Given the description of an element on the screen output the (x, y) to click on. 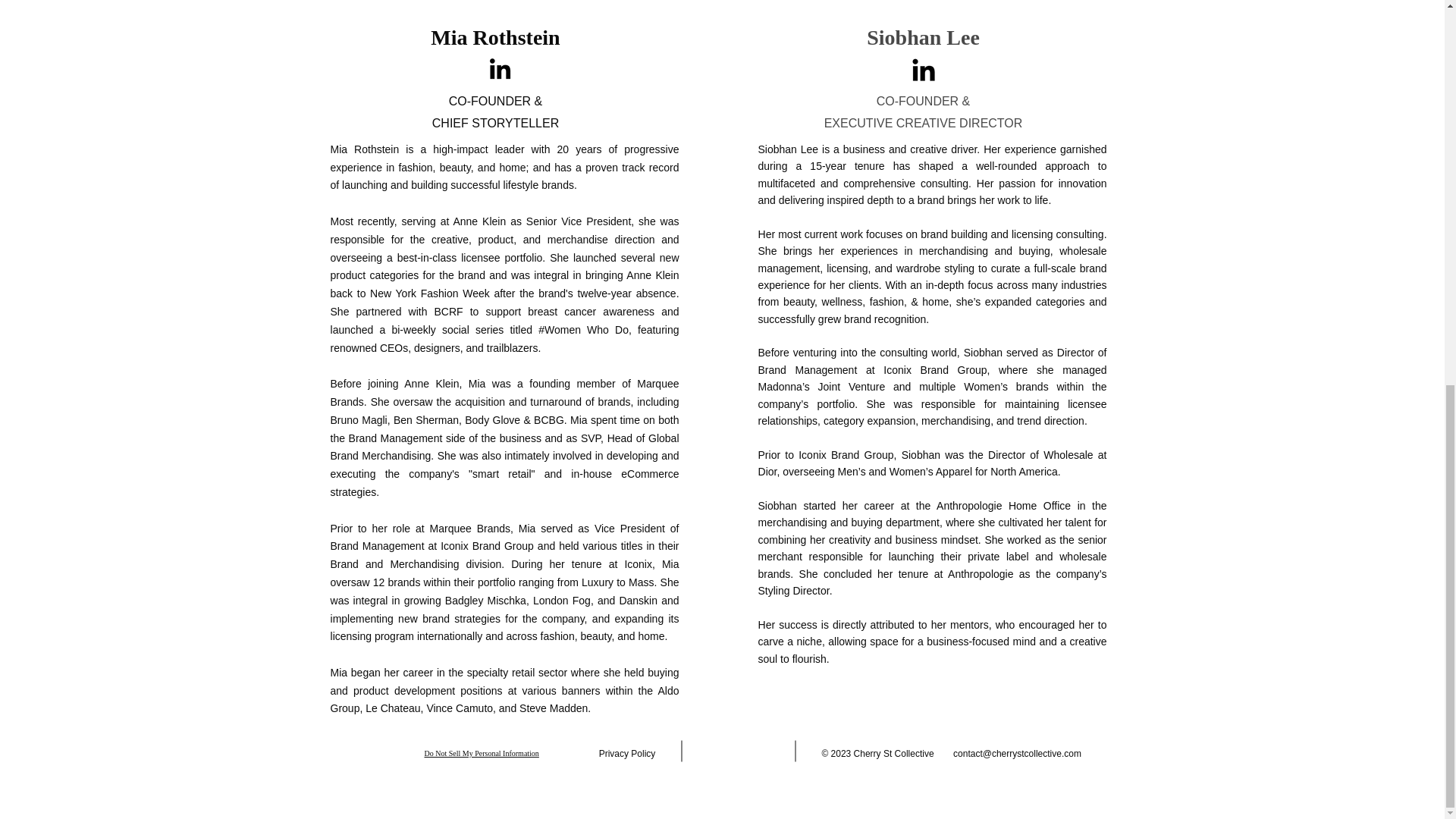
Do Not Sell My Personal Information (481, 753)
Privacy Policy (627, 753)
